Given the description of an element on the screen output the (x, y) to click on. 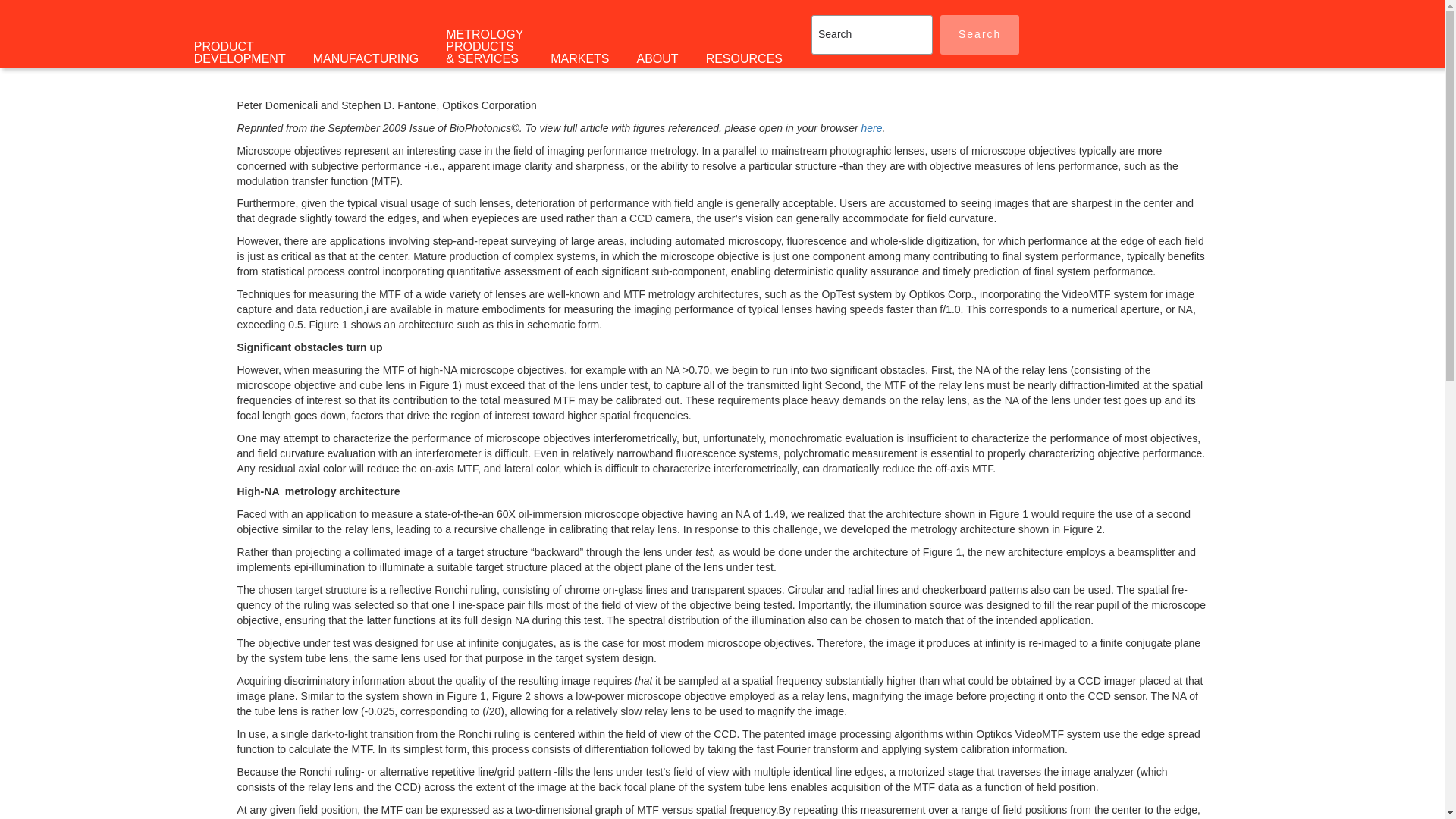
MARKETS (580, 58)
OPTIKOS (139, 37)
PRODUCT DEVELOPMENT (239, 52)
ABOUT (658, 58)
MANUFACTURING (365, 58)
